Given the description of an element on the screen output the (x, y) to click on. 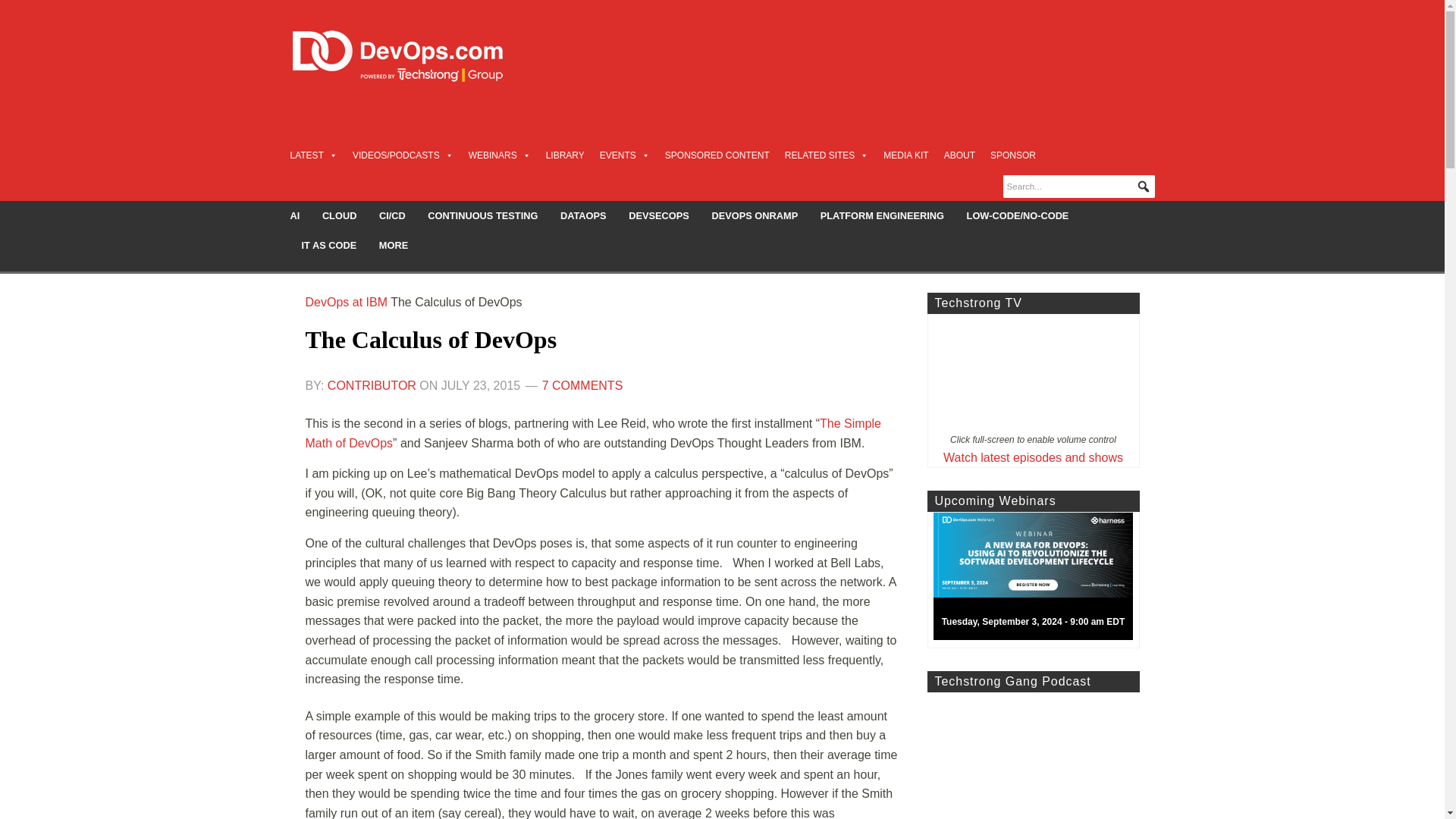
Tuesday, September 3, 2024 - 9:00 am EDT (1038, 579)
EVENTS (624, 155)
WEBINARS (499, 155)
LIBRARY (565, 155)
LATEST (312, 155)
DEVOPS.COM (414, 56)
RELATED SITES (825, 155)
SPONSORED CONTENT (717, 155)
Techstrong Gang (1032, 755)
